Given the description of an element on the screen output the (x, y) to click on. 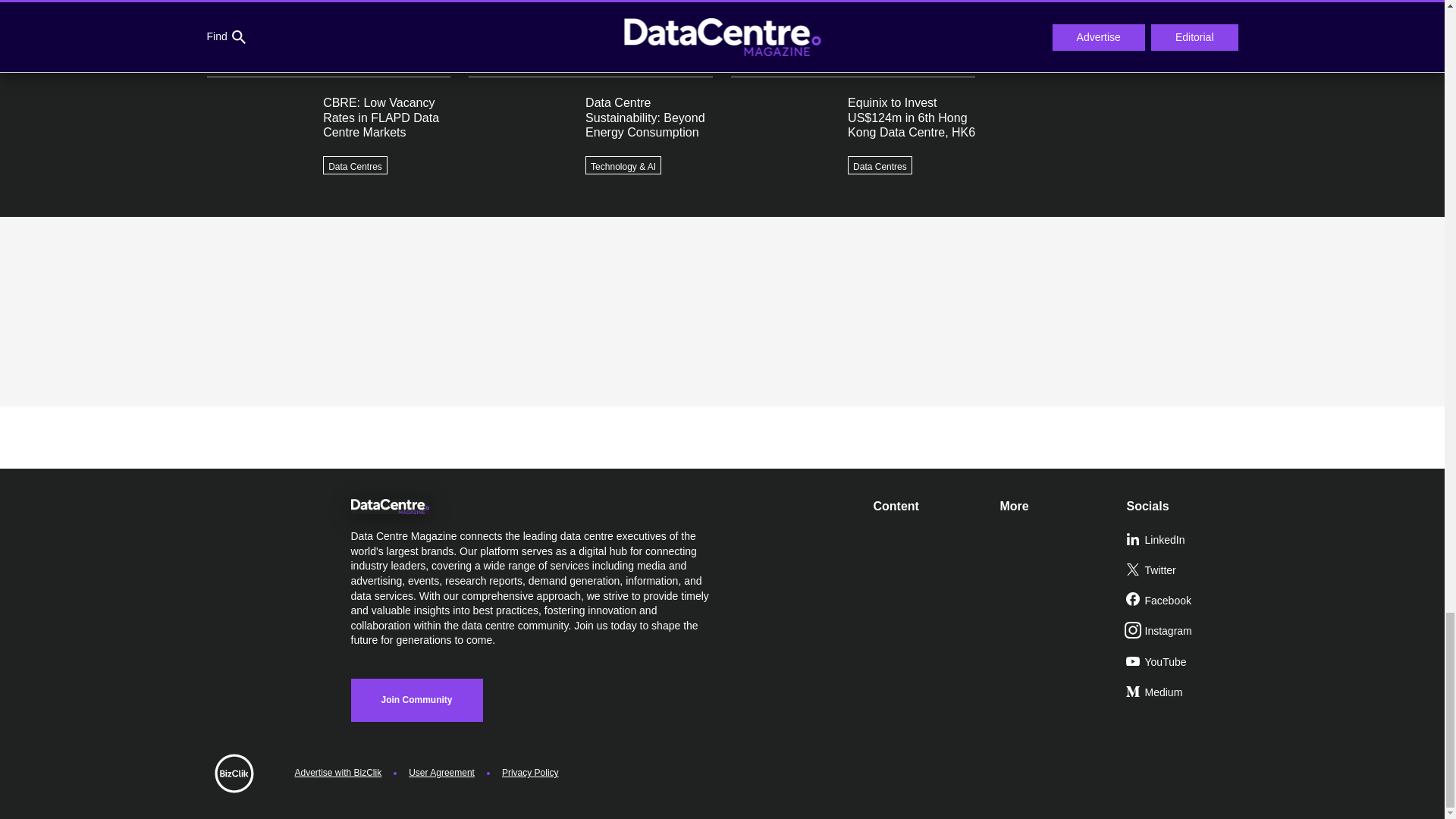
Overcoming AI Barriers to Achieve Data Centre Sustainability (1114, 23)
LinkedIn (1182, 540)
Twitter (1182, 571)
Facebook (1182, 601)
Join Community (415, 699)
